Given the description of an element on the screen output the (x, y) to click on. 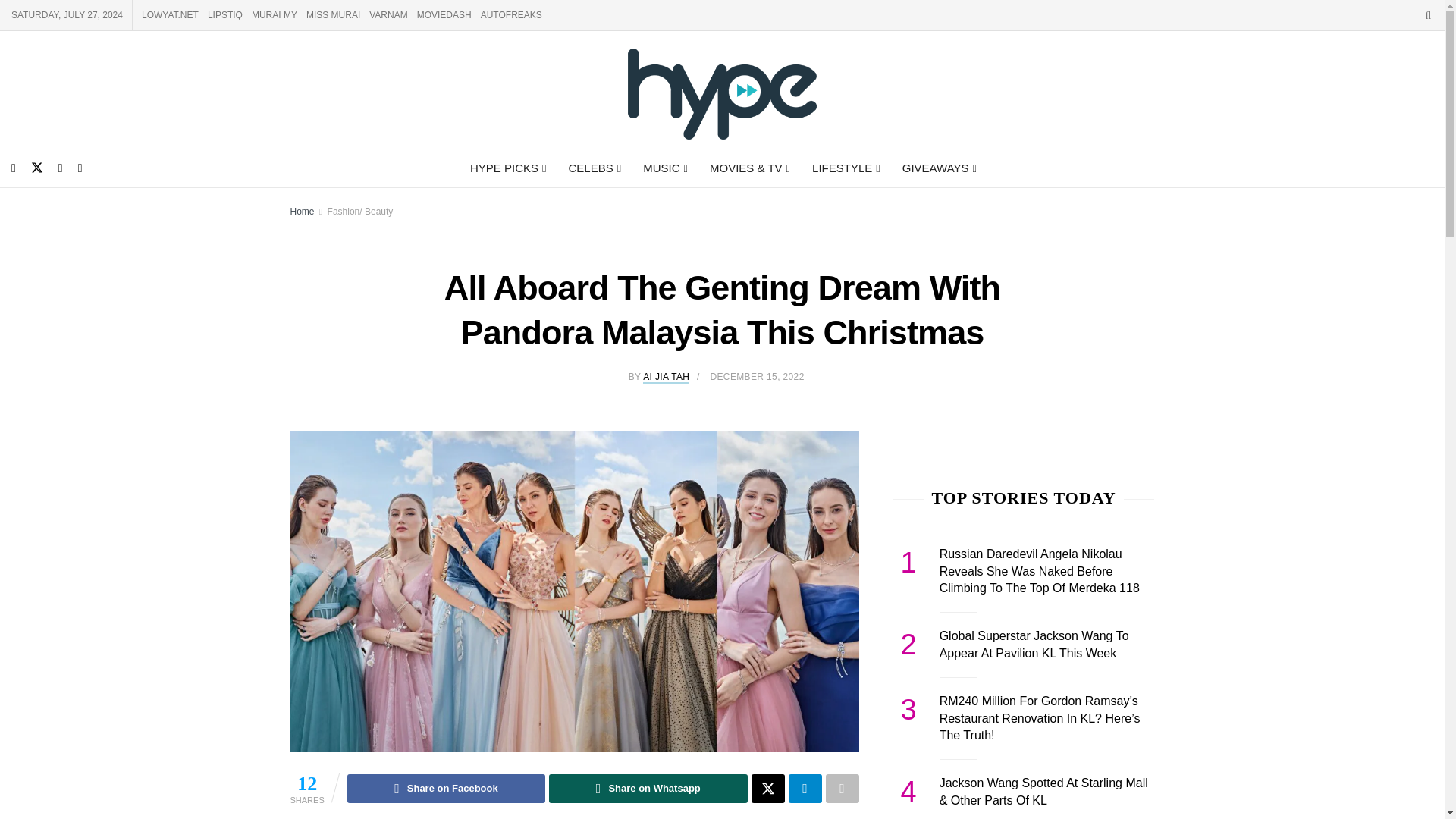
AUTOFREAKS (510, 15)
CELEBS (593, 168)
MOVIEDASH (443, 15)
VARNAM (388, 15)
HYPE PICKS (507, 168)
LIFESTYLE (844, 168)
LOWYAT.NET (169, 15)
GIVEAWAYS (938, 168)
MUSIC (663, 168)
LIPSTIQ (225, 15)
MISS MURAI (332, 15)
MURAI MY (274, 15)
